Given the description of an element on the screen output the (x, y) to click on. 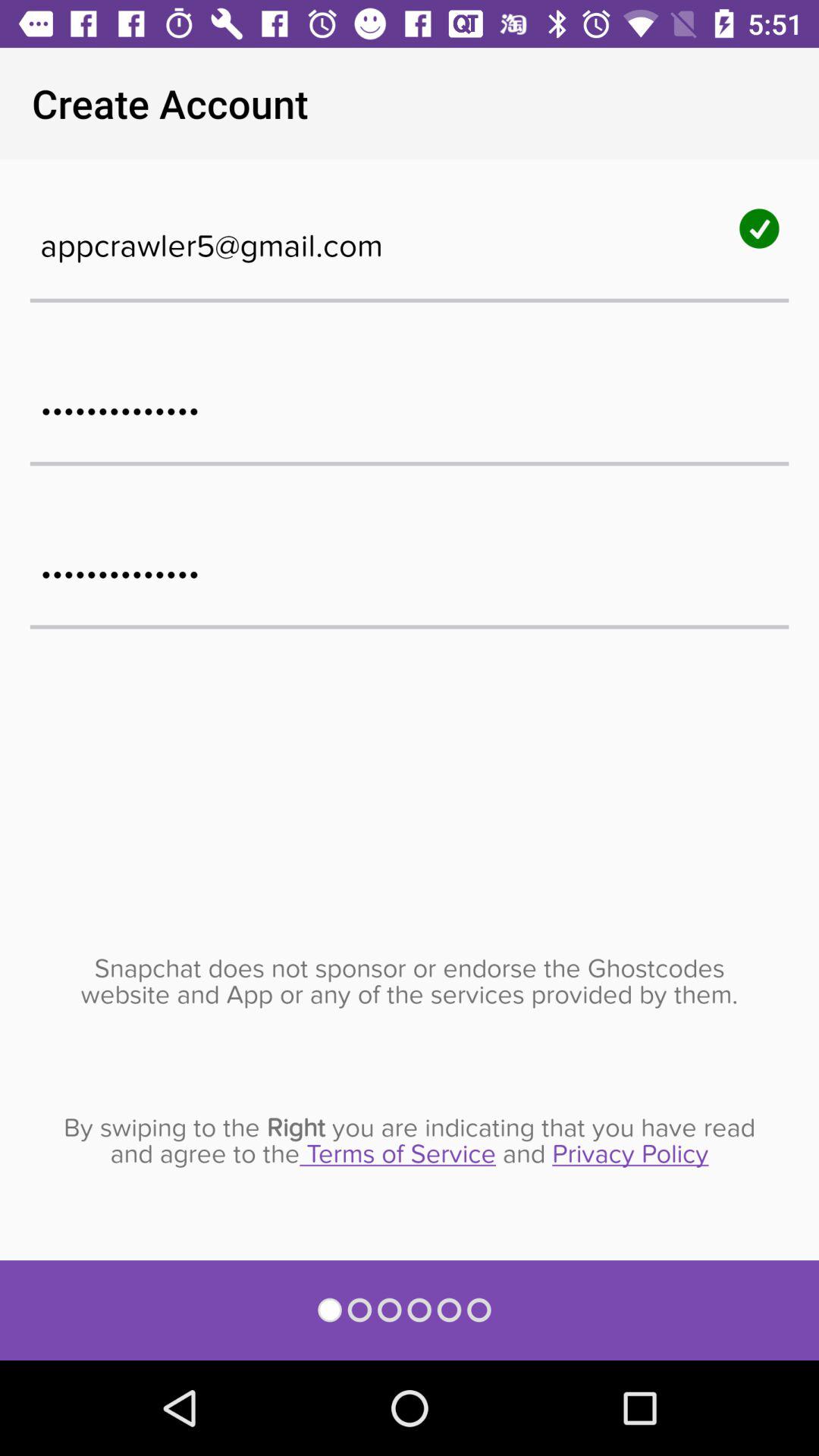
click icon below the create account (409, 237)
